Given the description of an element on the screen output the (x, y) to click on. 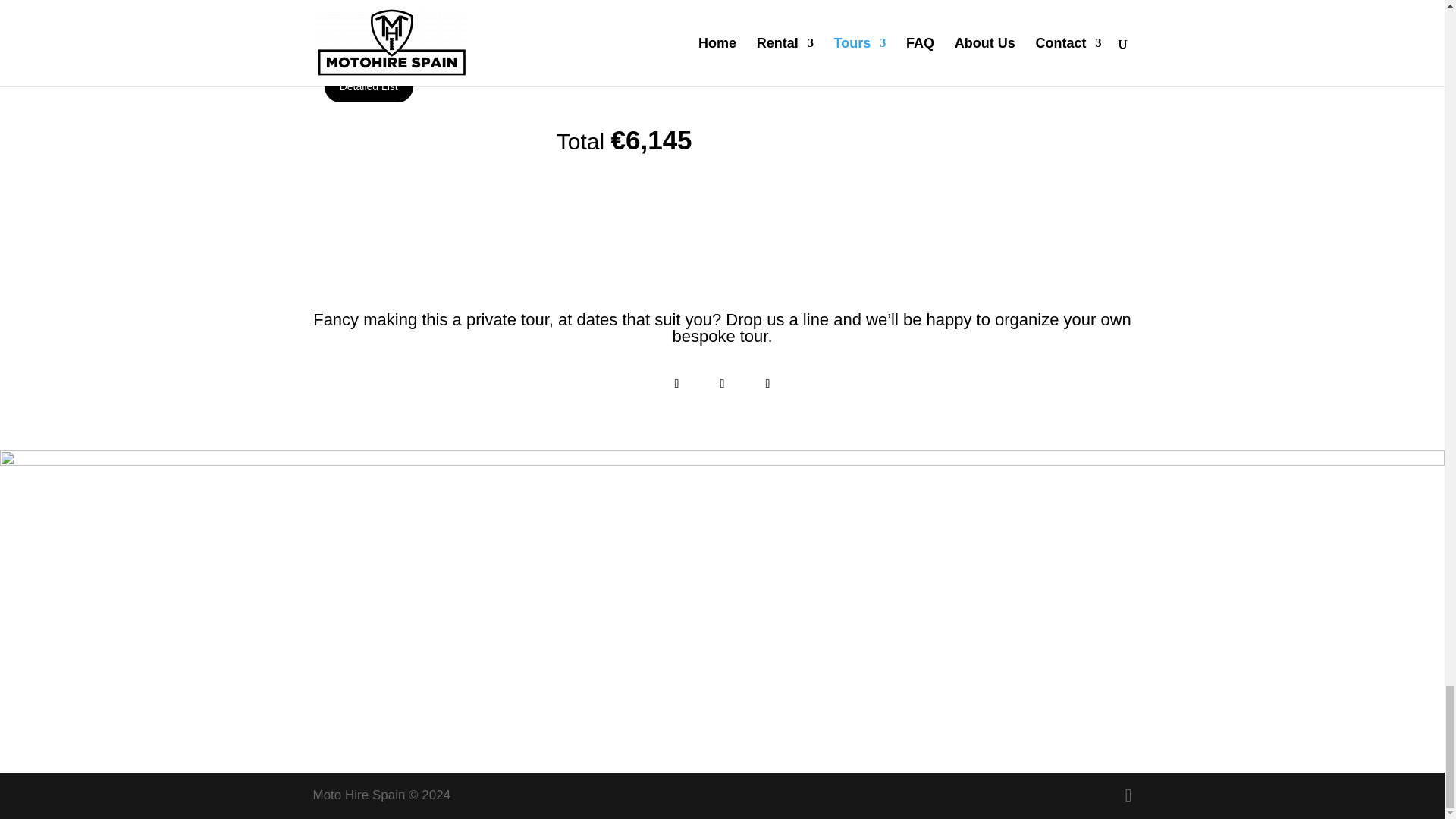
Follow on Instagram (767, 383)
0 (489, 20)
Follow on X (721, 383)
Follow on Facebook (675, 383)
